Given the description of an element on the screen output the (x, y) to click on. 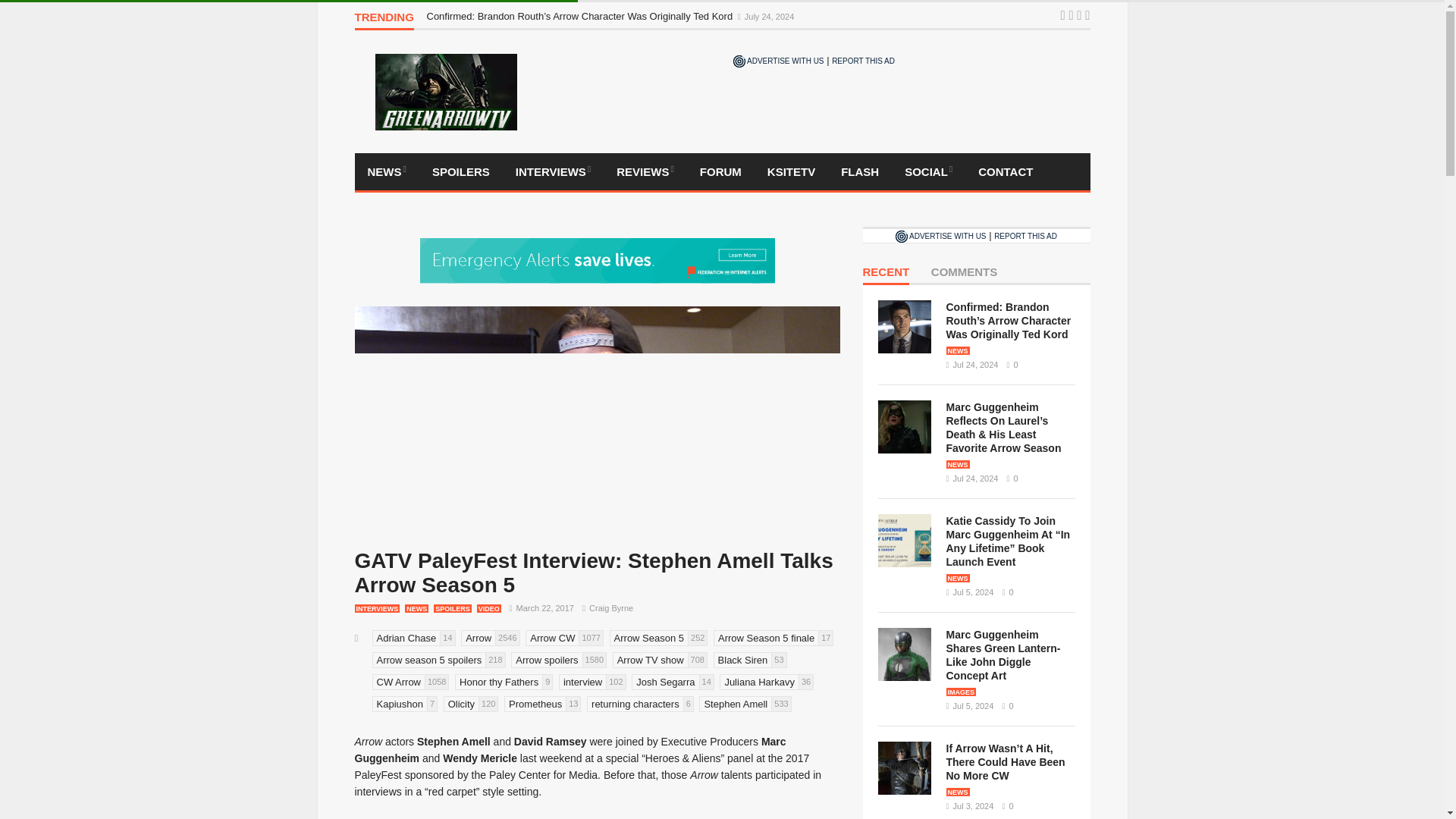
ADVERTISE WITH US (778, 60)
KSITETV (791, 171)
TRENDING (384, 20)
Reviews (645, 171)
SPOILERS (460, 171)
FLASH (859, 171)
FORUM (720, 171)
News (387, 171)
NEWS (387, 171)
Interviews (553, 171)
